Given the description of an element on the screen output the (x, y) to click on. 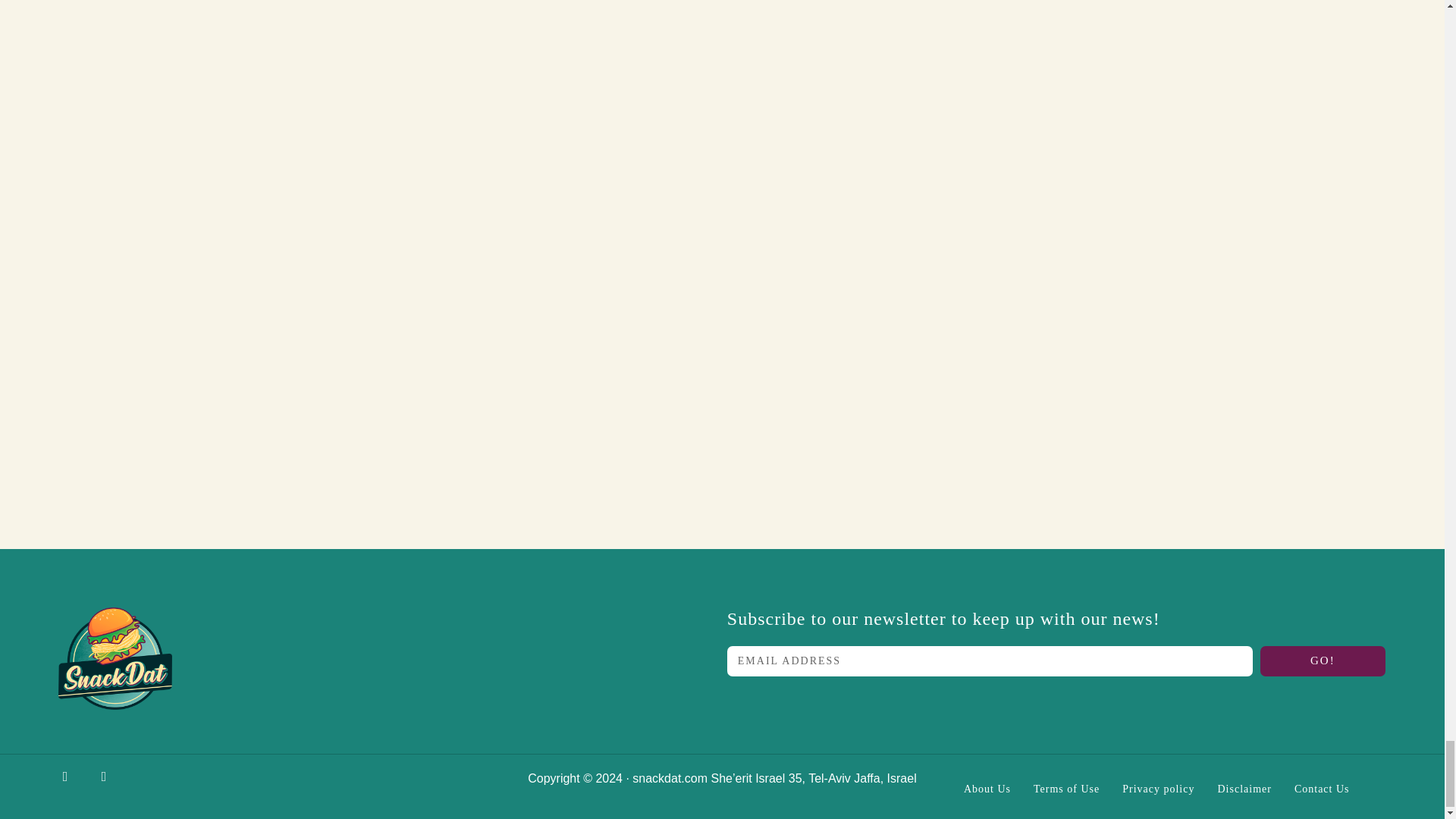
About Us (986, 789)
Terms of Use (1066, 789)
Privacy policy (1157, 789)
GO! (1323, 661)
